Given the description of an element on the screen output the (x, y) to click on. 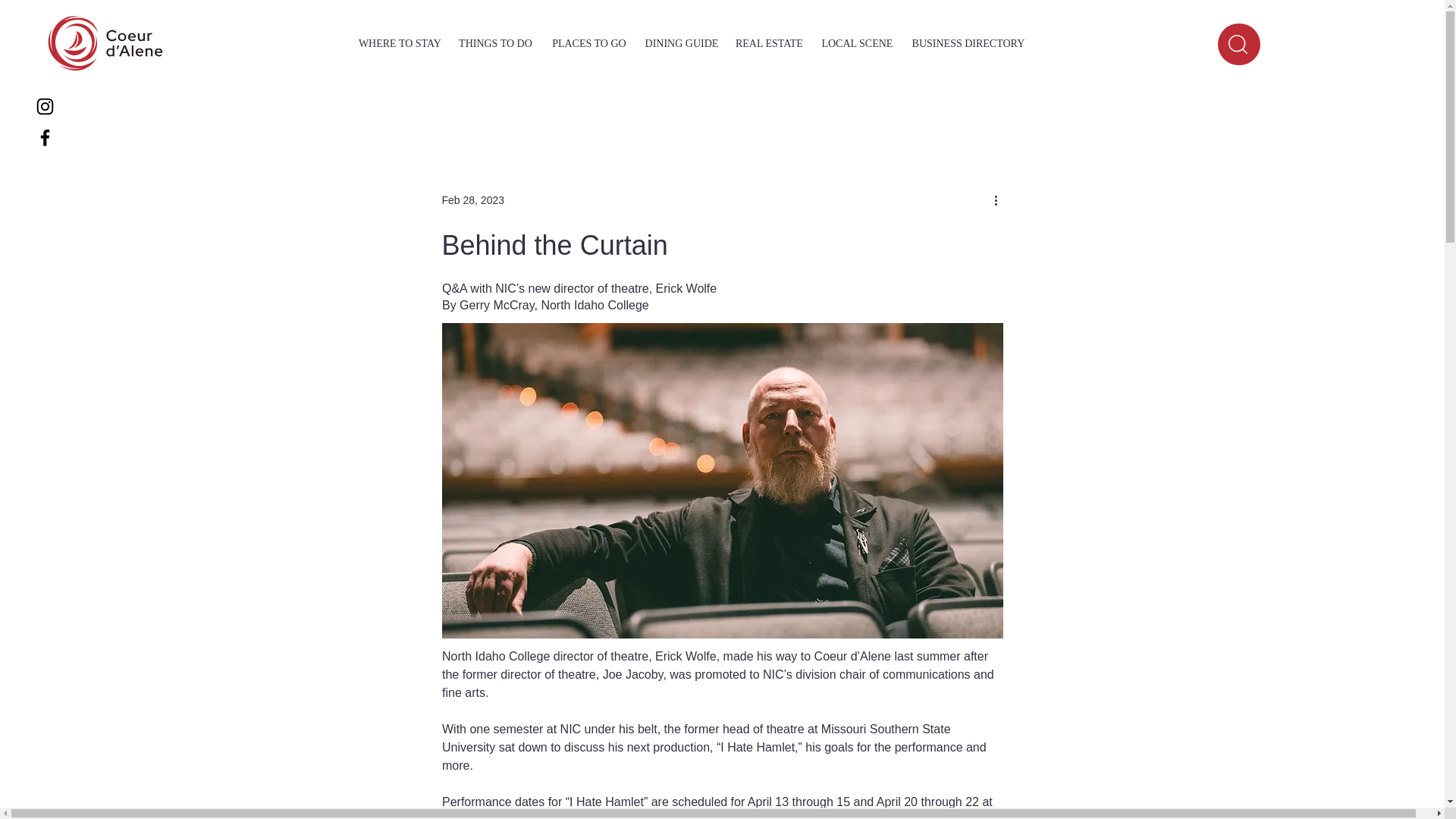
DINING GUIDE (681, 44)
PLACES TO GO (588, 44)
REAL ESTATE (768, 44)
Feb 28, 2023 (472, 200)
WHERE TO STAY (400, 44)
